Given the description of an element on the screen output the (x, y) to click on. 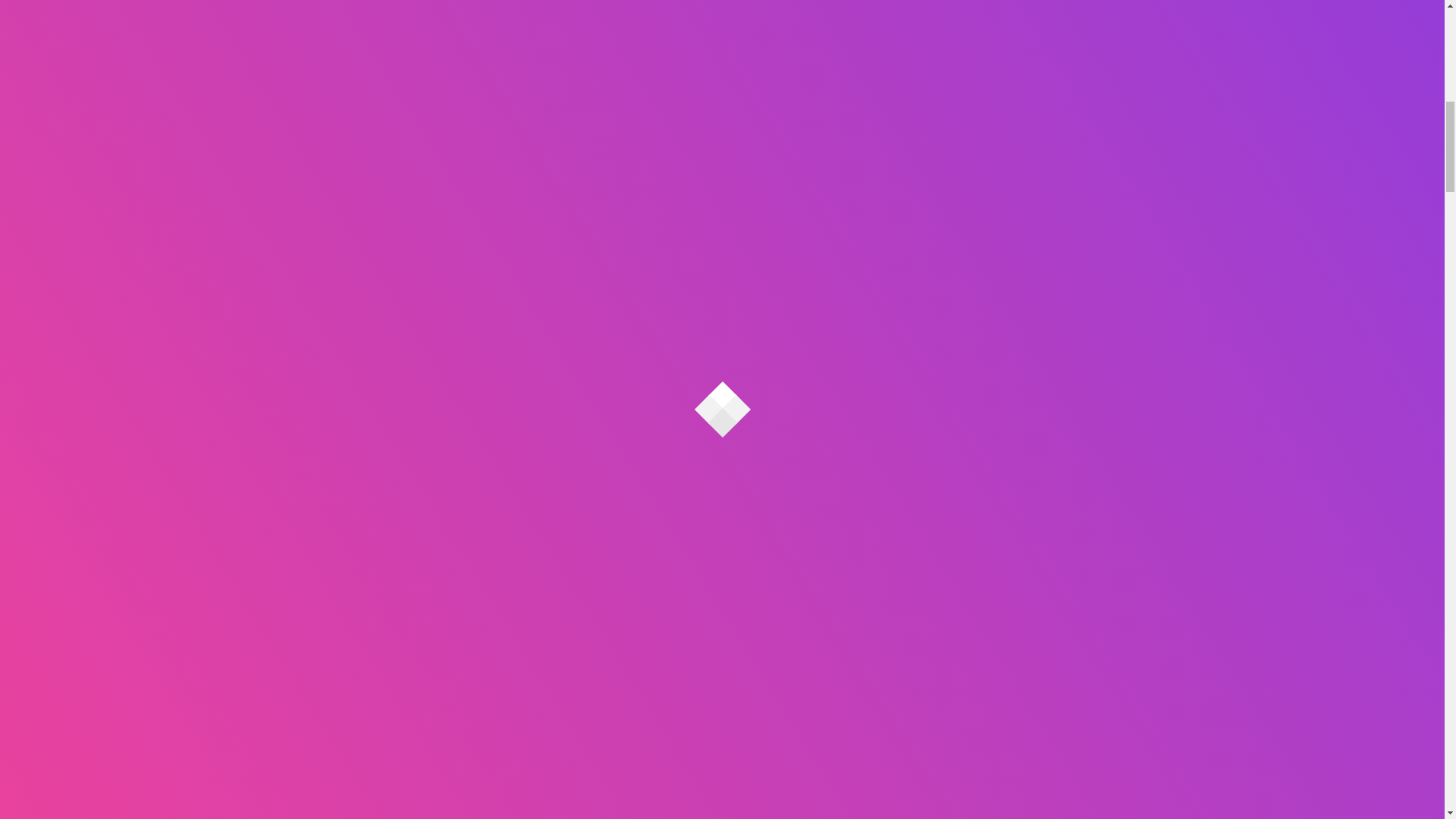
Subscribe (1077, 30)
